Given the description of an element on the screen output the (x, y) to click on. 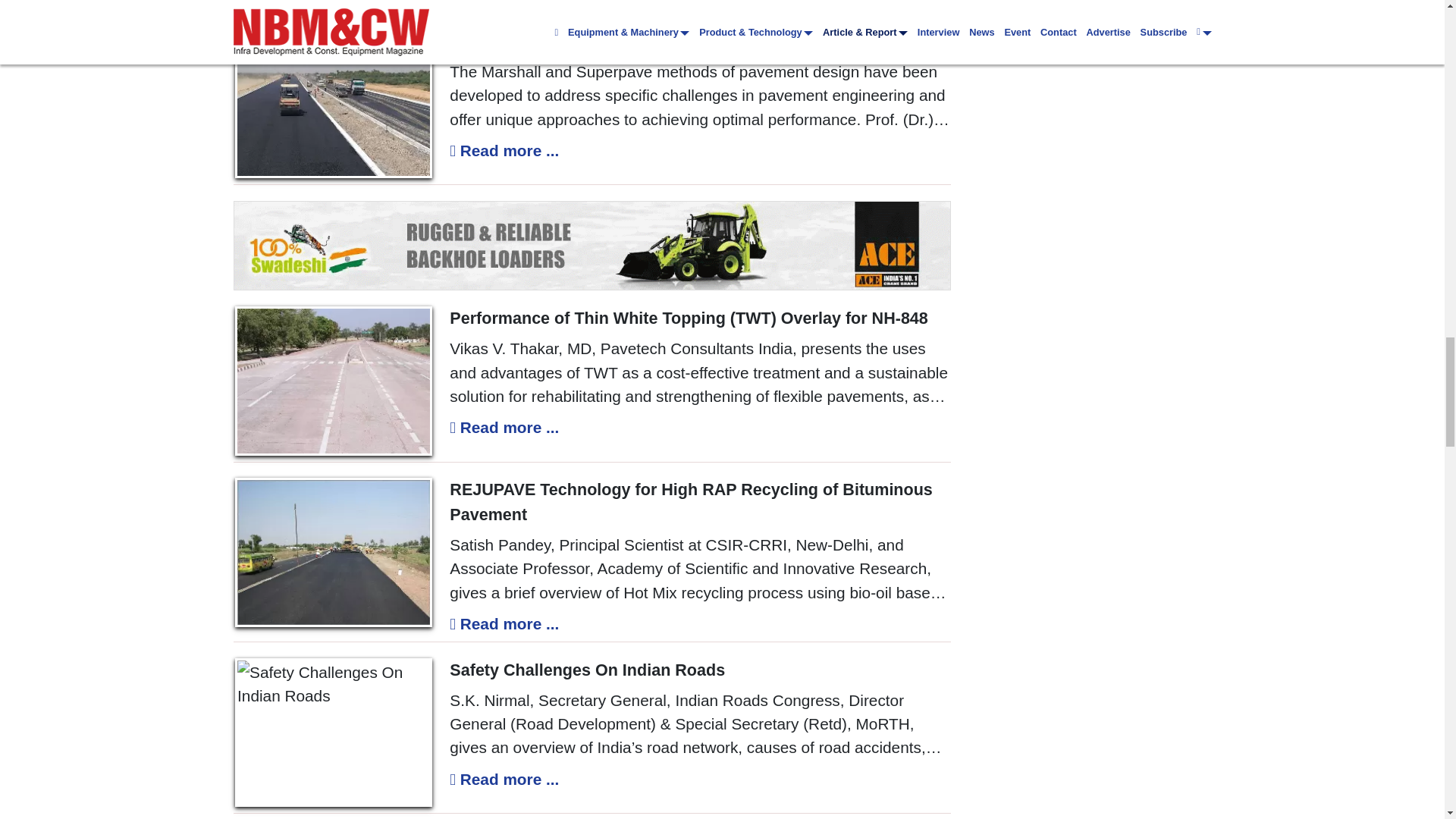
ACE - India's No. 1 CRANE BRAND (591, 245)
